Given the description of an element on the screen output the (x, y) to click on. 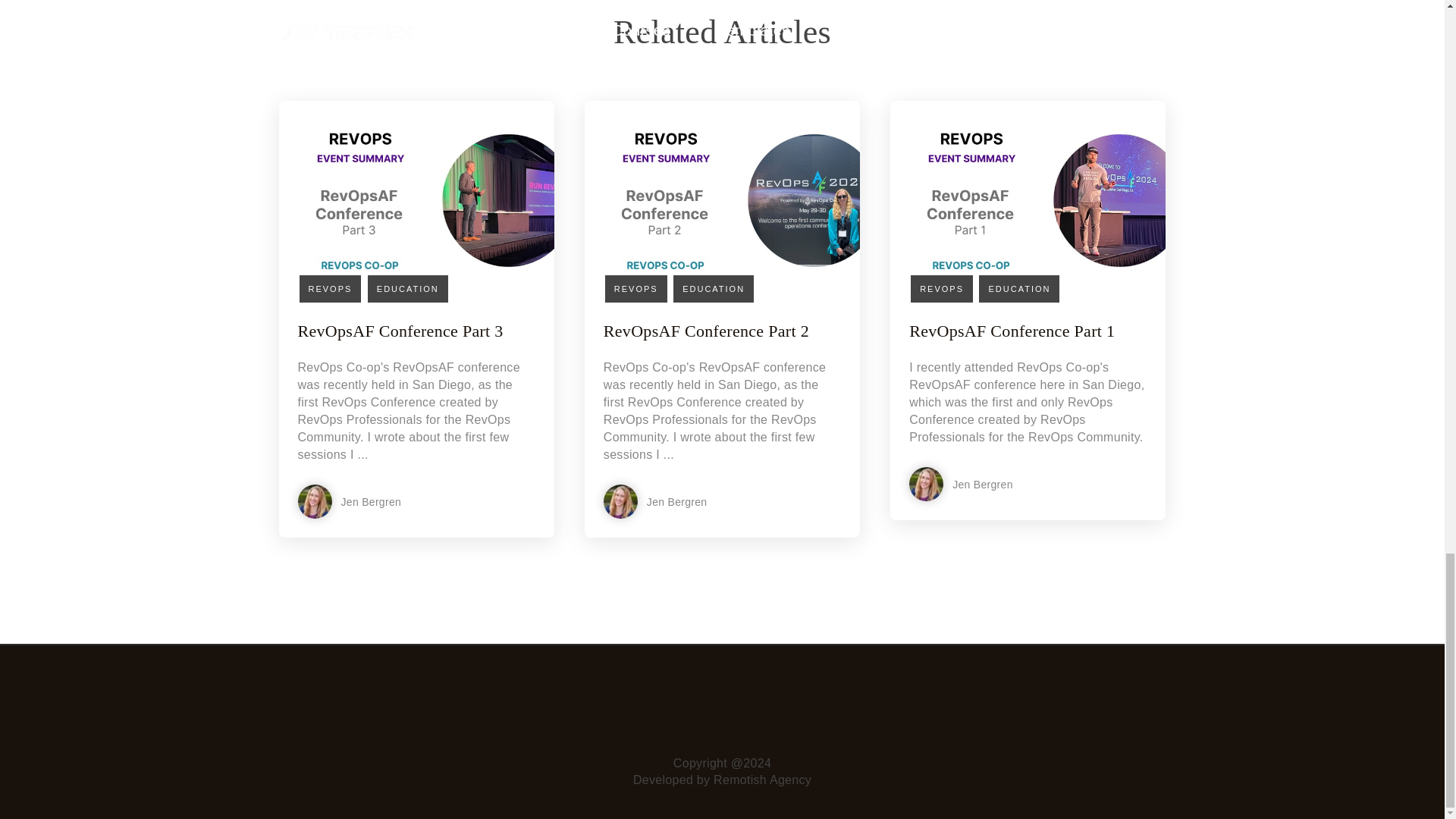
RevOpsAF Conference Part 3 (399, 330)
EDUCATION (408, 288)
RevOpsAF Conference Part 2 (706, 330)
REVOPS (329, 288)
REVOPS (941, 288)
REVOPS (635, 288)
EDUCATION (1018, 288)
Jen Bergren (698, 501)
Jen Bergren (392, 501)
EDUCATION (713, 288)
